Given the description of an element on the screen output the (x, y) to click on. 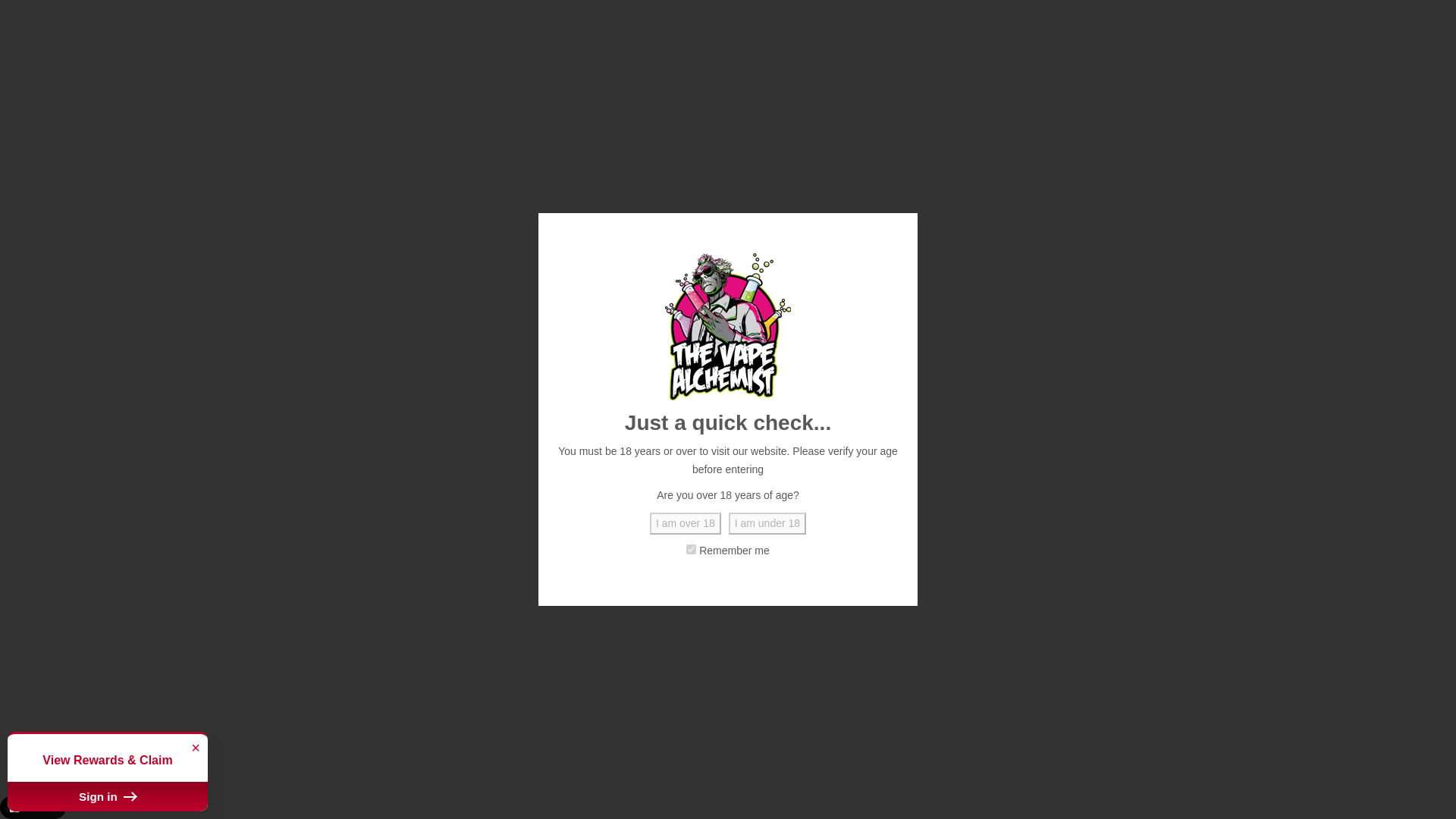
I am under 18 (767, 523)
Customer reviews powered by Trustpilot (727, 16)
E-LIQUID (218, 131)
1 (690, 549)
01270 368814 (236, 17)
VG (253, 773)
1 (845, 474)
VAPING PRODUCTS (317, 131)
I am over 18 (684, 523)
search (967, 73)
0 (1249, 74)
